Given the description of an element on the screen output the (x, y) to click on. 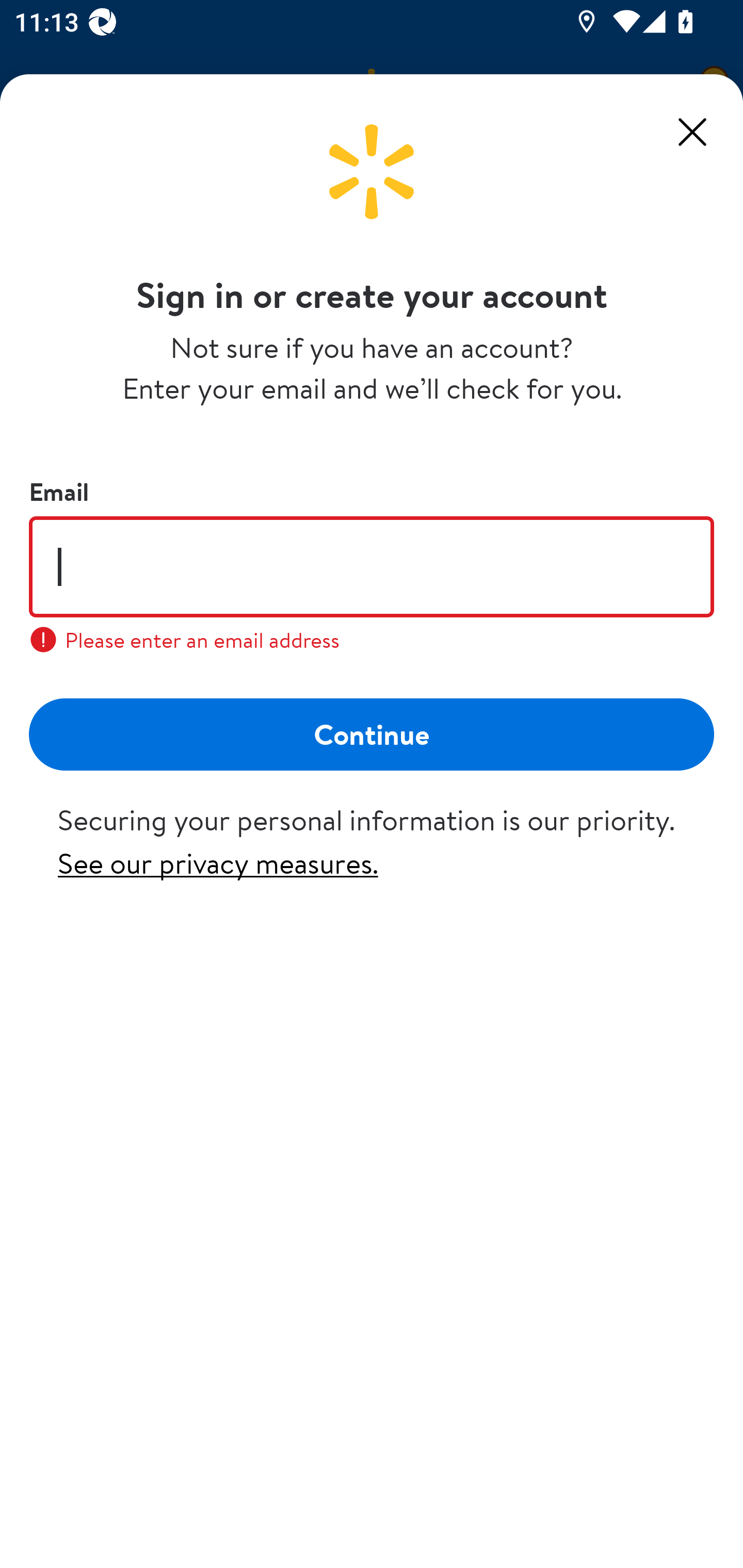
Close (692, 131)
Email (371, 566)
Continue (371, 733)
